Given the description of an element on the screen output the (x, y) to click on. 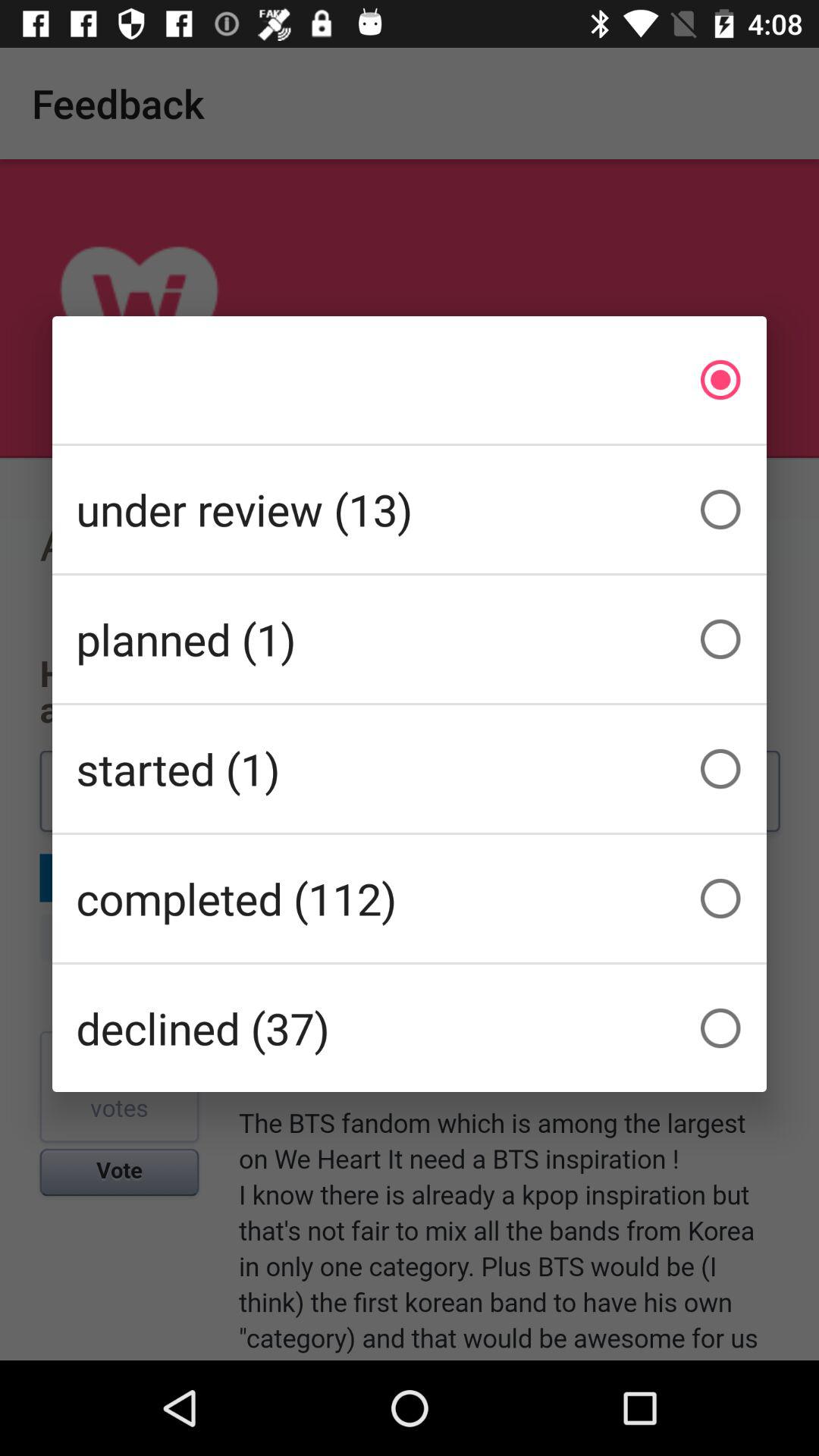
turn off the item above the planned (1) item (409, 509)
